Given the description of an element on the screen output the (x, y) to click on. 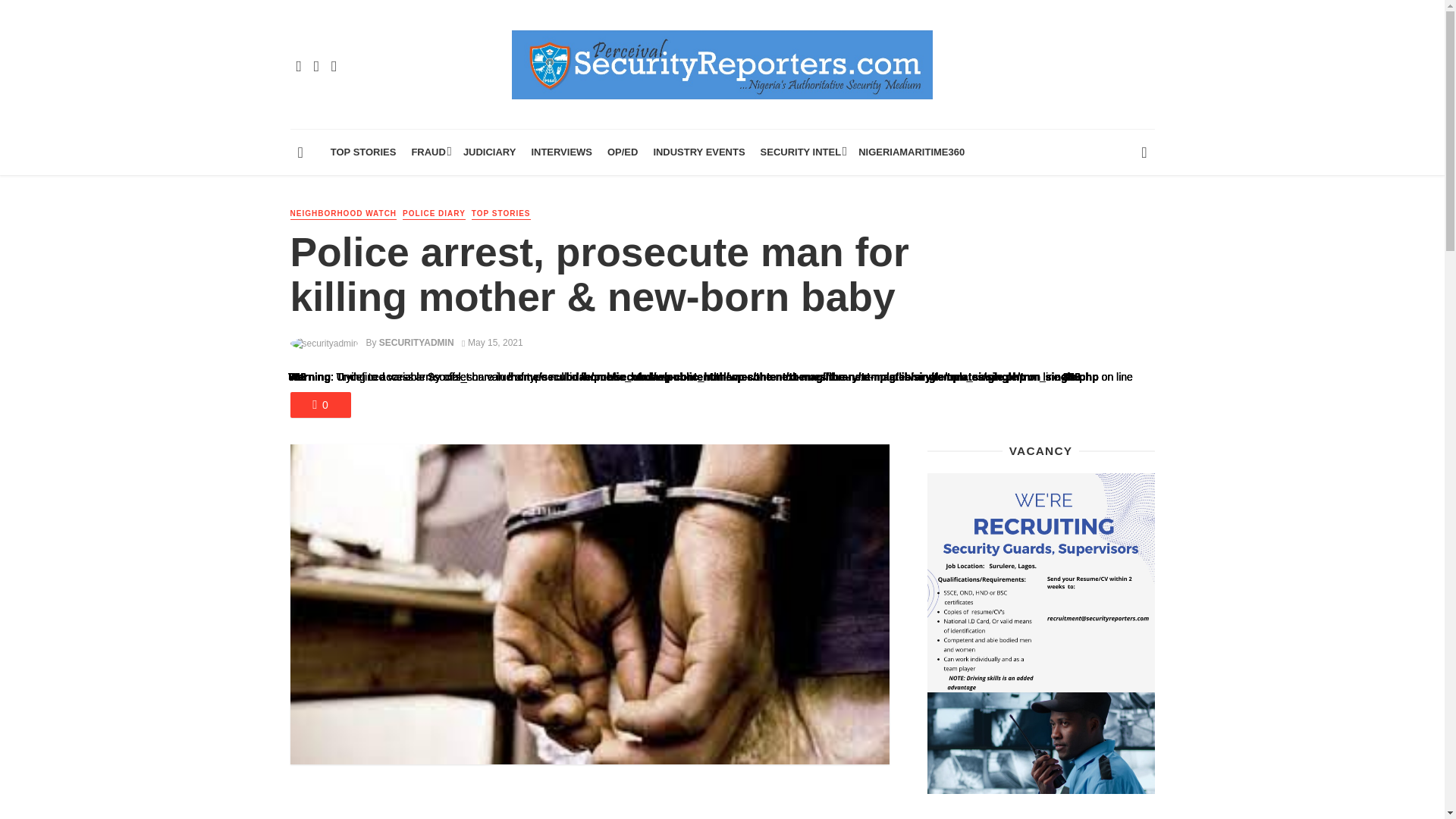
POLICE DIARY (434, 214)
JUDICIARY (489, 152)
SECURITYADMIN (416, 342)
SECURITY INTEL (801, 152)
INTERVIEWS (560, 152)
TOP STORIES (501, 214)
0 (319, 404)
0 Comments (319, 404)
INDUSTRY EVENTS (698, 152)
TOP STORIES (363, 152)
May 15, 2021 at 8:51 am (491, 342)
NEIGHBORHOOD WATCH (342, 214)
NIGERIAMARITIME360 (911, 152)
FRAUD (428, 152)
Posts by securityadmin (416, 342)
